Given the description of an element on the screen output the (x, y) to click on. 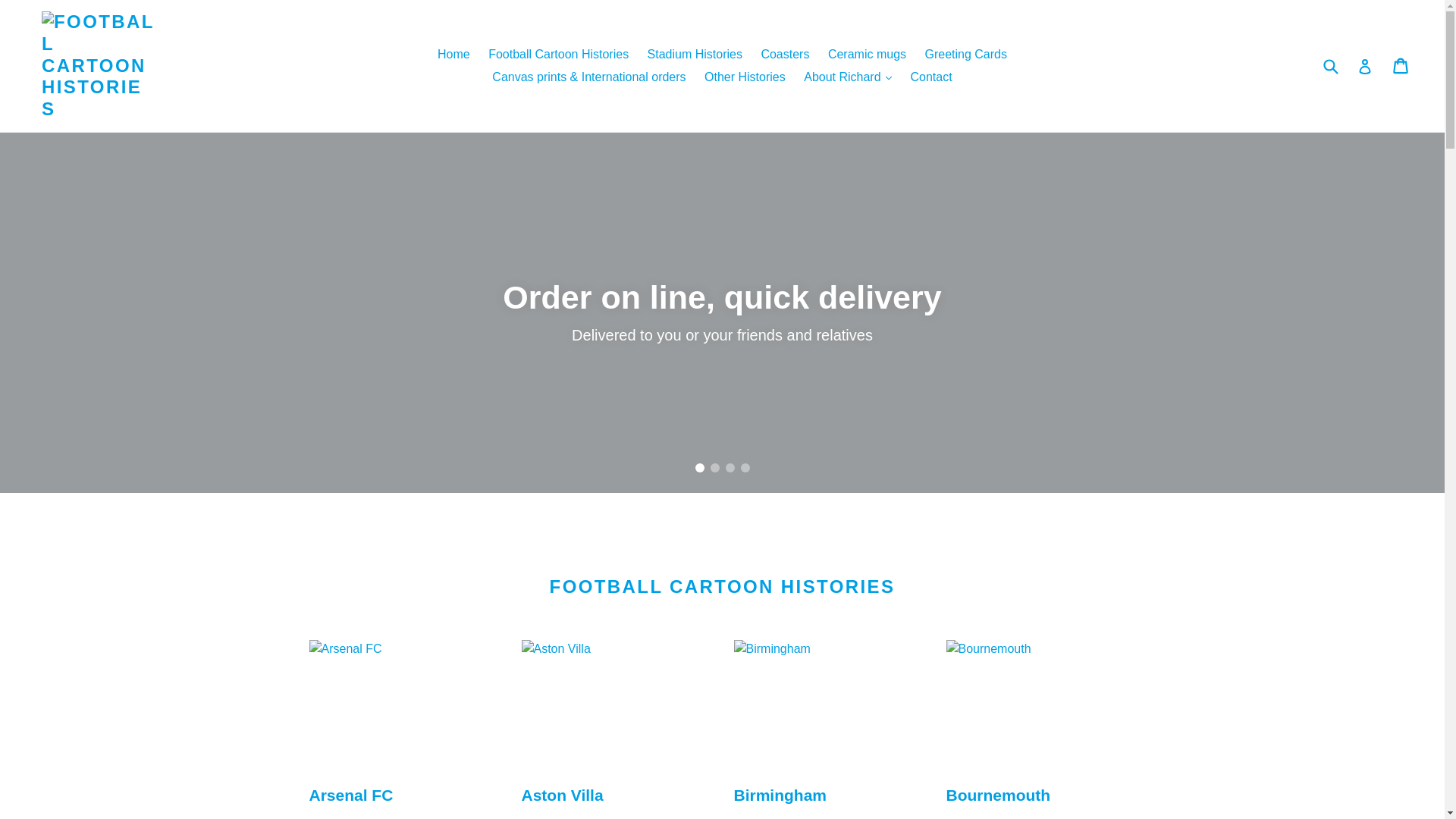
Contact (930, 77)
Ceramic mugs (867, 54)
Coasters (784, 54)
Football Cartoon Histories (558, 54)
Home (453, 54)
Greeting Cards (965, 54)
Other Histories (745, 77)
Stadium Histories (694, 54)
